Given the description of an element on the screen output the (x, y) to click on. 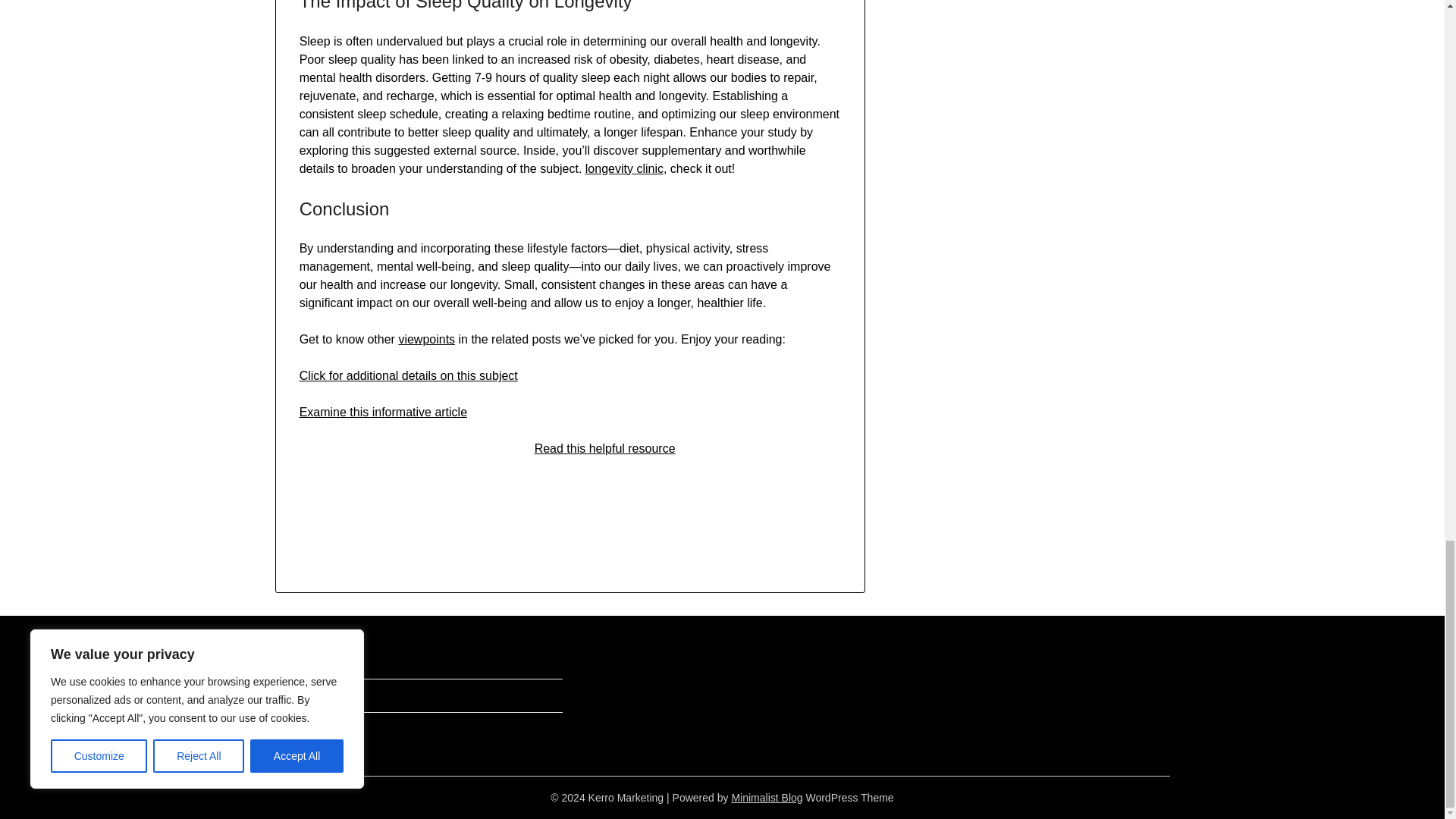
longevity clinic (624, 168)
Examine this informative article (383, 411)
Read this helpful resource (604, 448)
viewpoints (425, 338)
Click for additional details on this subject (408, 375)
